Given the description of an element on the screen output the (x, y) to click on. 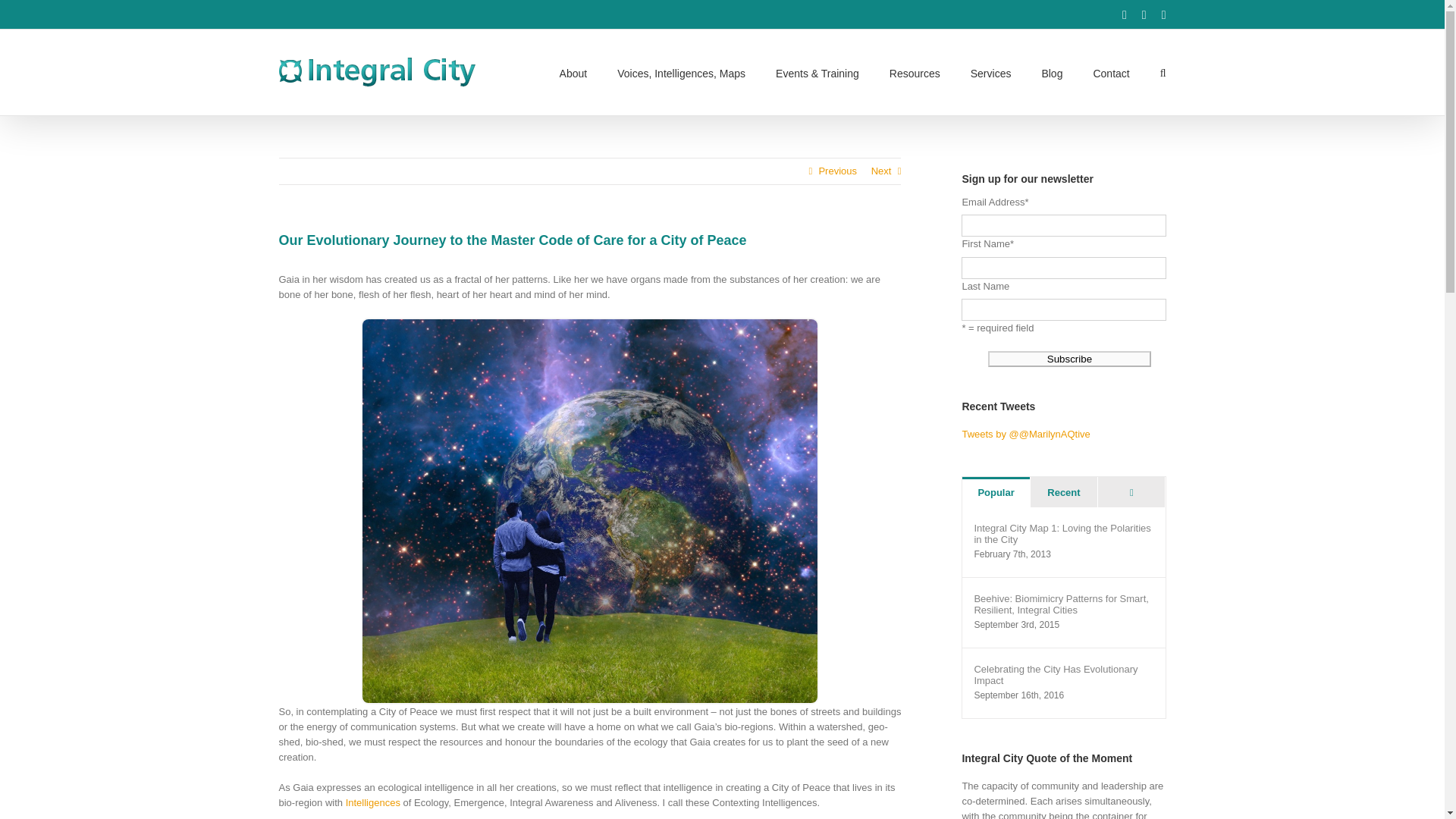
Subscribe (1069, 358)
Voices, Intelligences, Maps (681, 72)
